Given the description of an element on the screen output the (x, y) to click on. 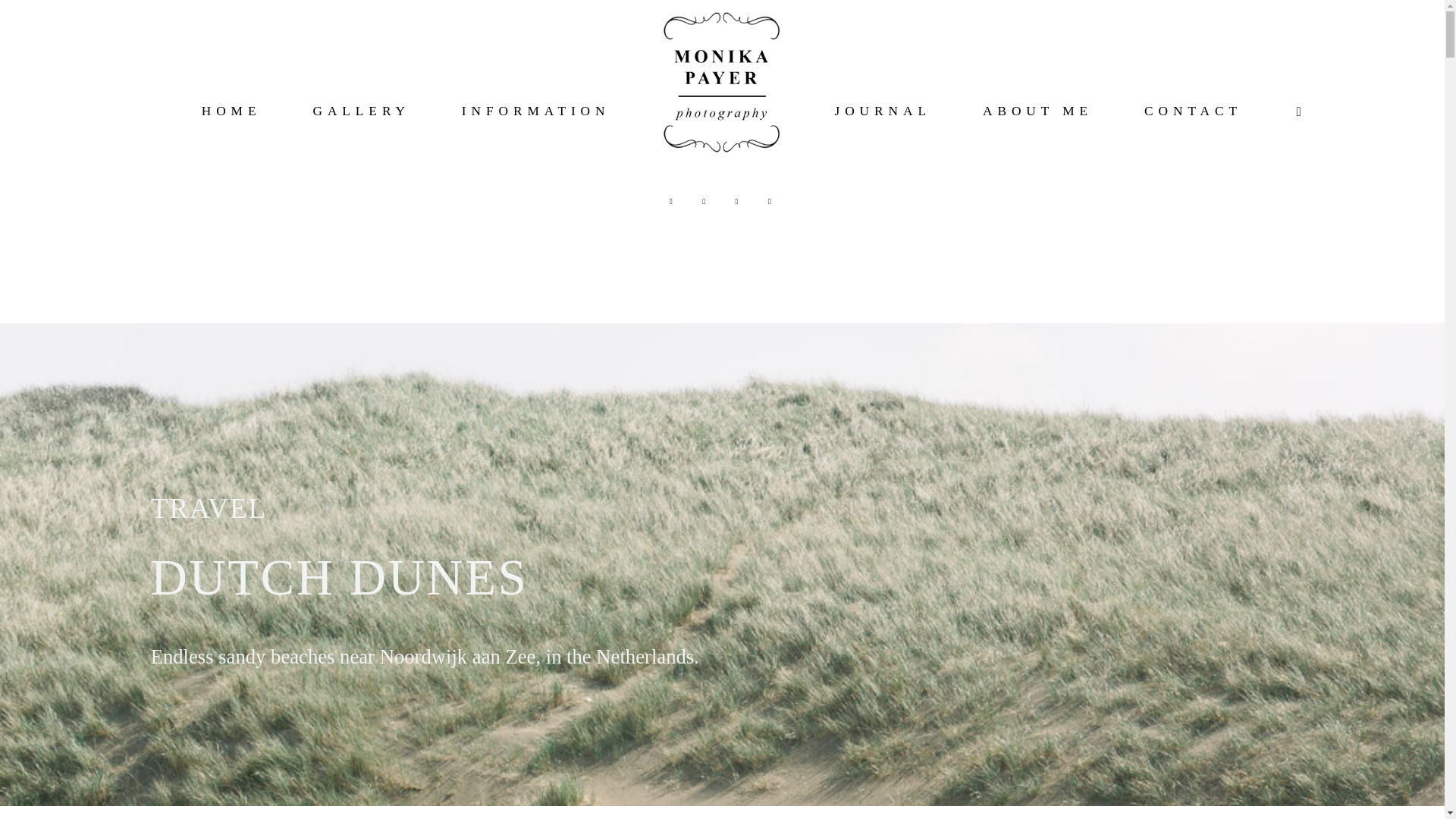
TRAVEL (209, 508)
CONTACT (1192, 111)
HOME (232, 111)
ABOUT ME (1037, 111)
INFORMATION (535, 111)
JOURNAL (882, 111)
GALLERY (361, 111)
